Given the description of an element on the screen output the (x, y) to click on. 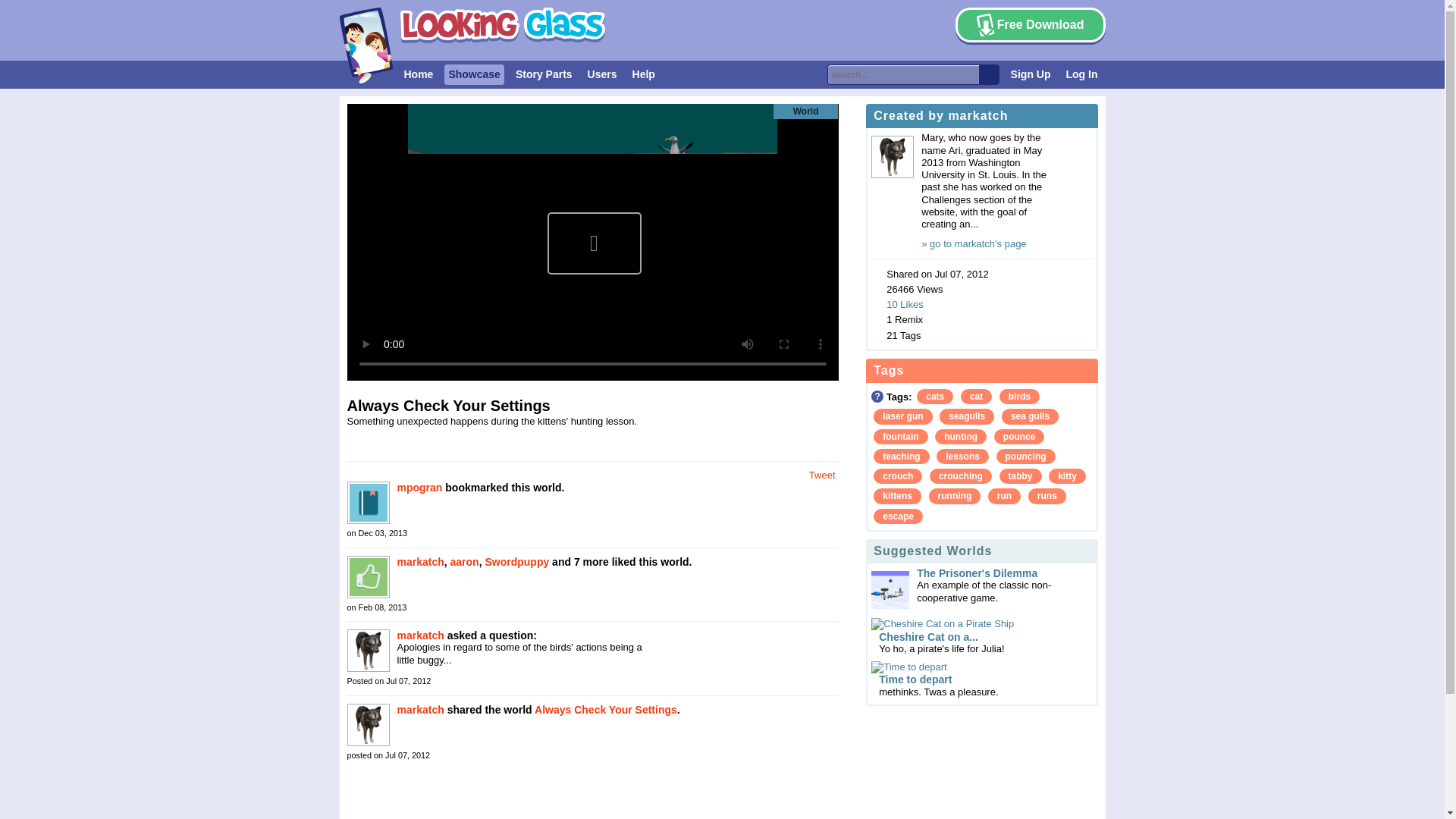
Showcase (473, 74)
Help (643, 74)
Log In (1080, 74)
Users (602, 74)
Home (419, 74)
Story Parts (544, 74)
Sign Up (1030, 74)
